Given the description of an element on the screen output the (x, y) to click on. 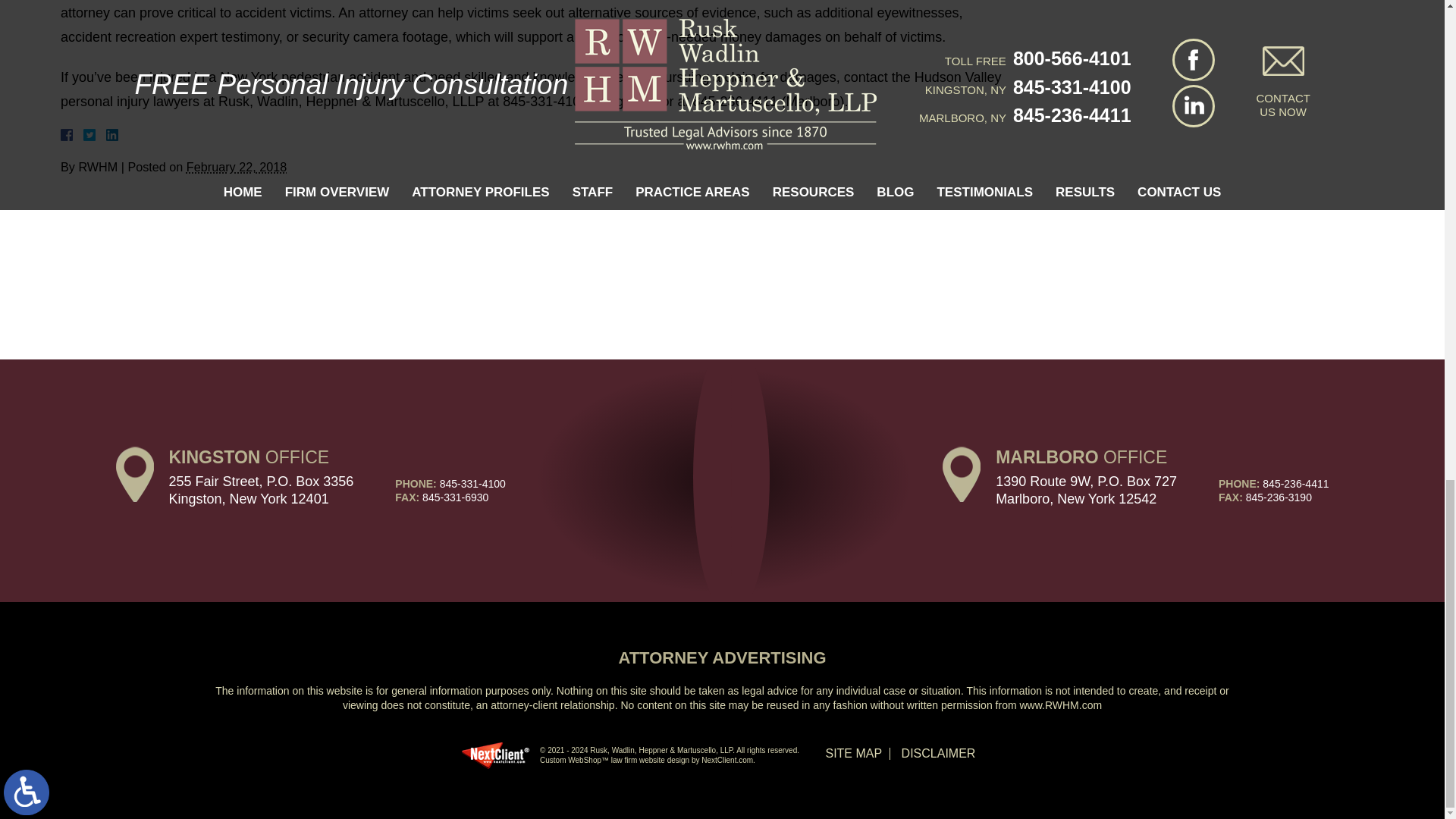
Facebook (85, 134)
2018-02-22T21:50:53-0800 (236, 166)
LinkedIn (106, 134)
Twitter (95, 134)
